Given the description of an element on the screen output the (x, y) to click on. 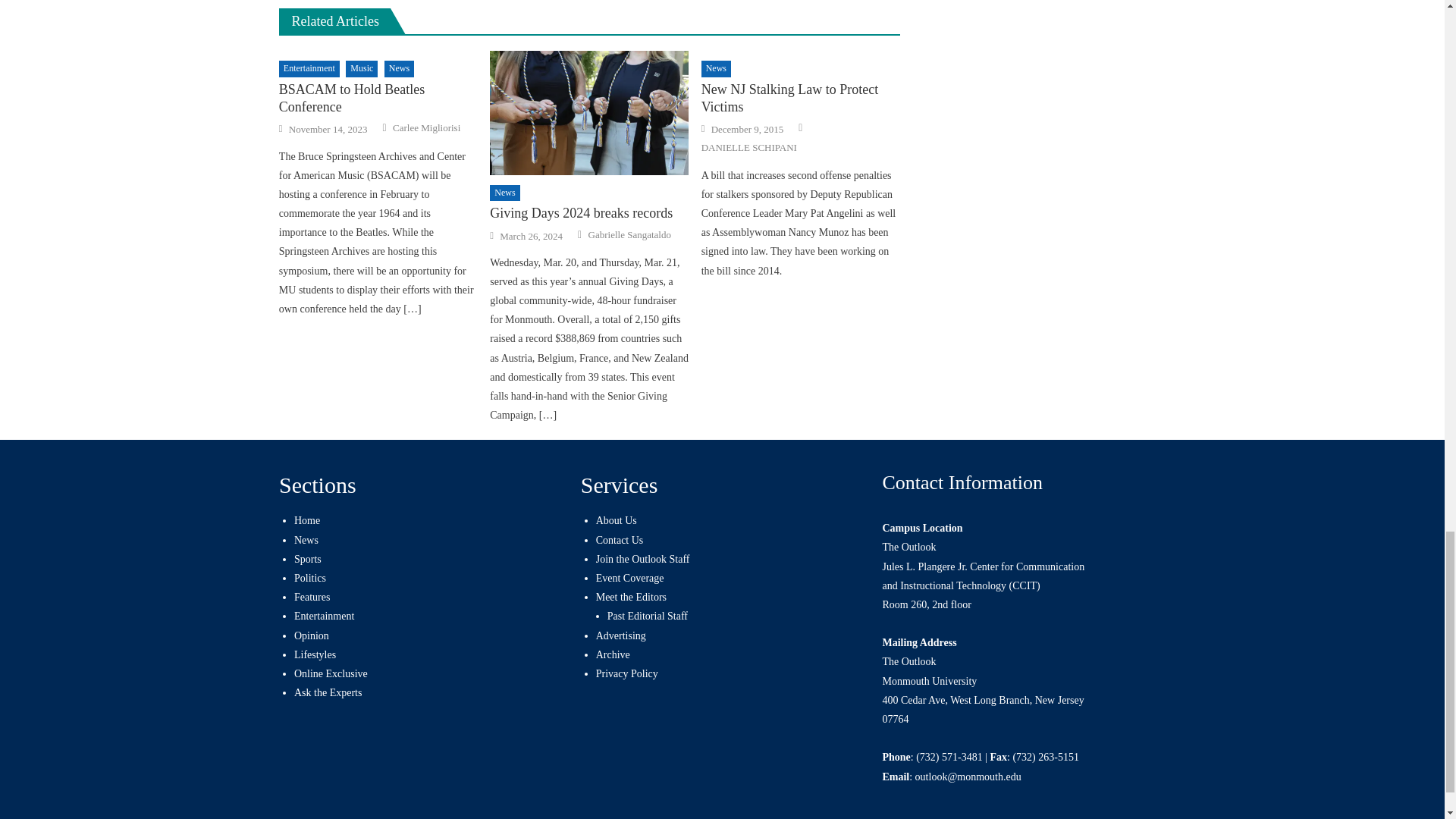
Posts by DANIELLE SCHIPANI (748, 147)
Posts by Carlee Migliorisi (426, 128)
Giving Days 2024 breaks records (588, 112)
Music (361, 68)
Posts by Gabrielle Sangataldo (629, 233)
Entertainment (309, 68)
BSACAM to Hold Beatles Conference (378, 99)
News (504, 193)
Gabrielle Sangataldo (629, 233)
Carlee Migliorisi (426, 128)
News (398, 68)
November 14, 2023 (328, 129)
Giving Days 2024 breaks records (588, 212)
March 26, 2024 (530, 235)
